Given the description of an element on the screen output the (x, y) to click on. 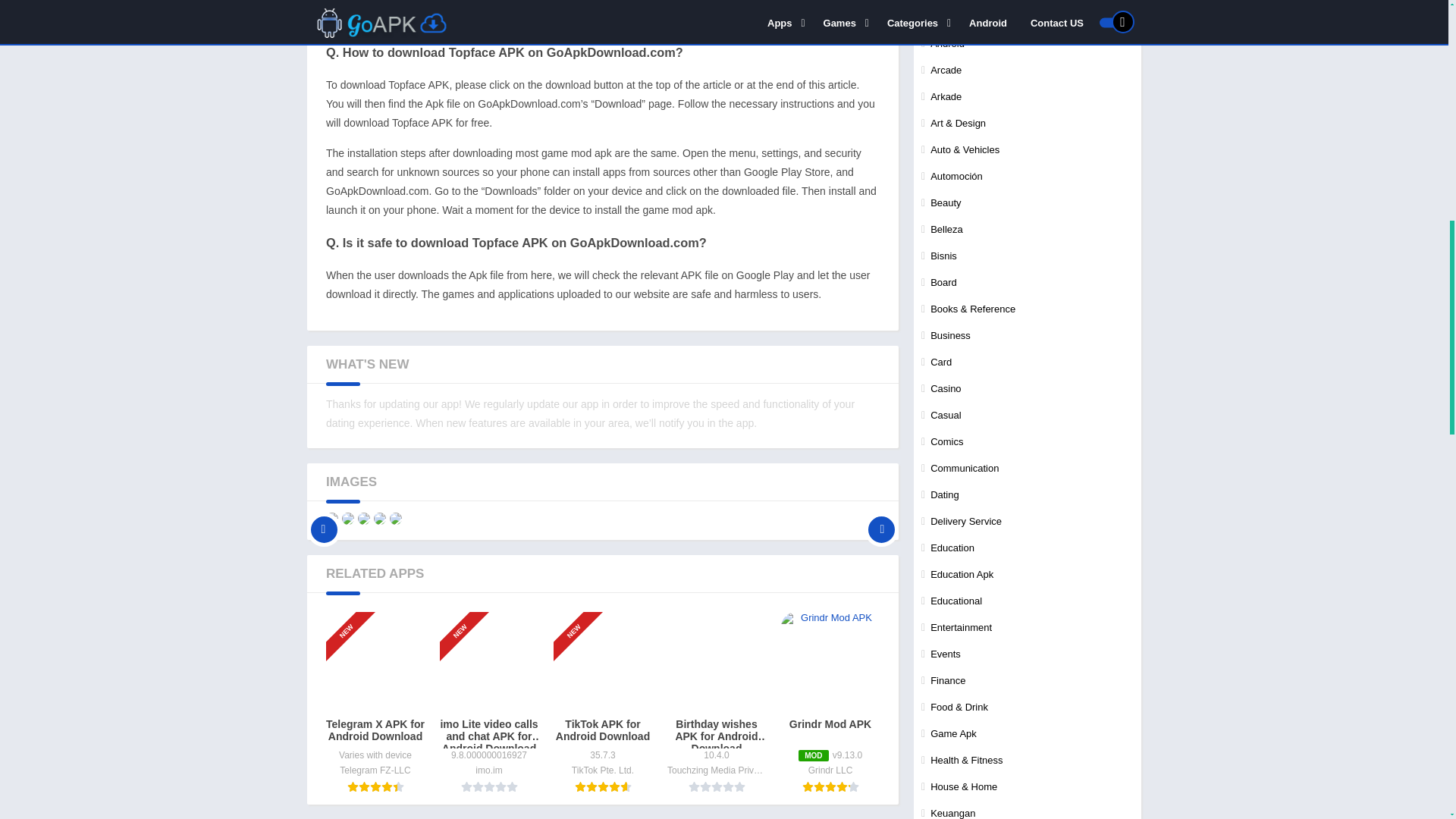
Next (881, 518)
New (579, 605)
New (352, 605)
New (466, 605)
Previous (323, 518)
